Given the description of an element on the screen output the (x, y) to click on. 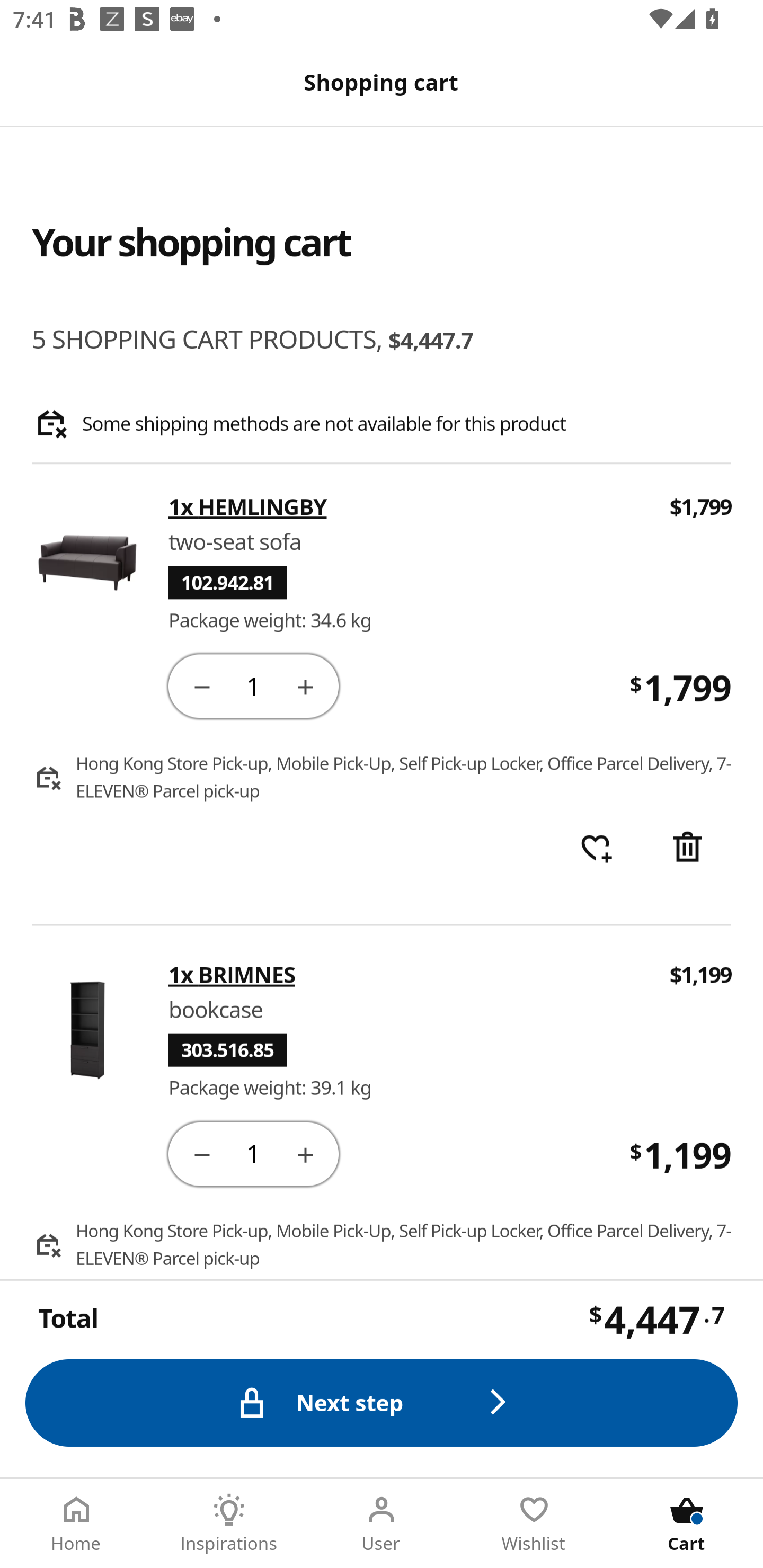
1x  HEMLINGBY 1x  HEMLINGBY (406, 507)
1 (253, 685)
 (201, 685)
 (305, 685)
  (595, 848)
 (686, 848)
1x  BRIMNES 1x  BRIMNES (406, 974)
1 (253, 1153)
 (201, 1153)
 (305, 1153)
Home
Tab 1 of 5 (76, 1522)
Inspirations
Tab 2 of 5 (228, 1522)
User
Tab 3 of 5 (381, 1522)
Wishlist
Tab 4 of 5 (533, 1522)
Cart
Tab 5 of 5 (686, 1522)
